Given the description of an element on the screen output the (x, y) to click on. 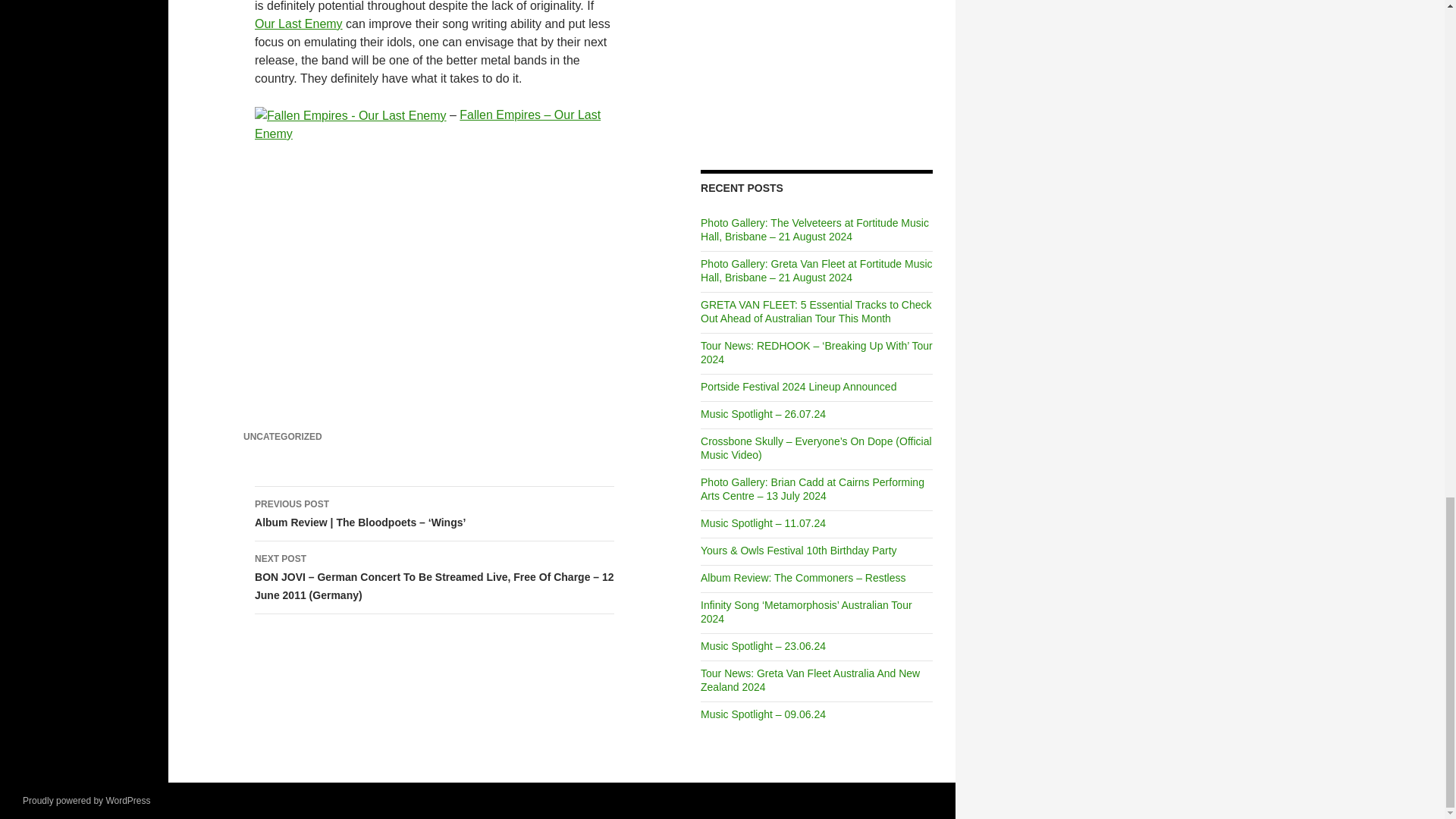
Our Last Enemy (298, 23)
Portside Festival 2024 Lineup Announced (798, 386)
